Given the description of an element on the screen output the (x, y) to click on. 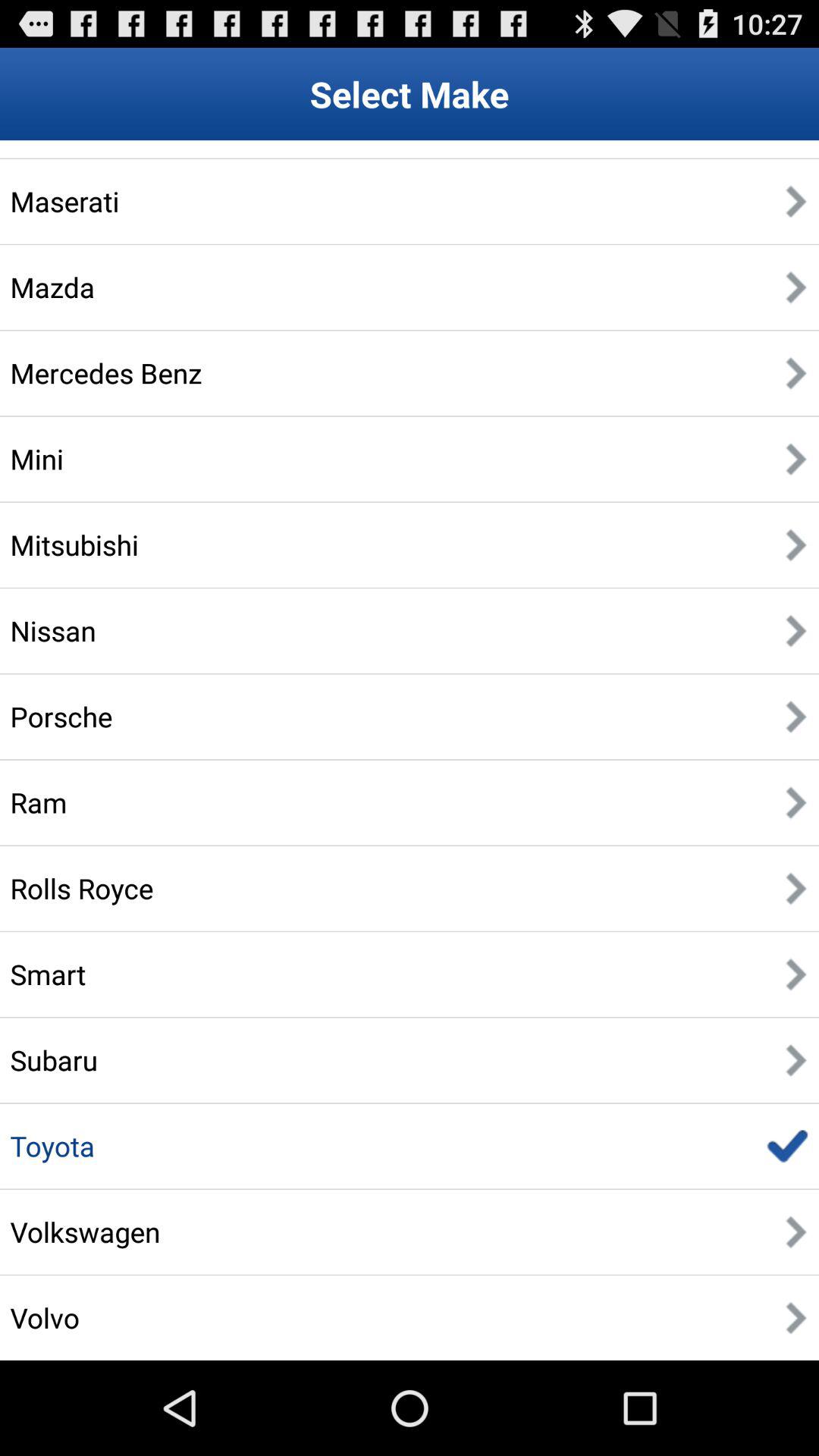
swipe to the volkswagen (85, 1231)
